Given the description of an element on the screen output the (x, y) to click on. 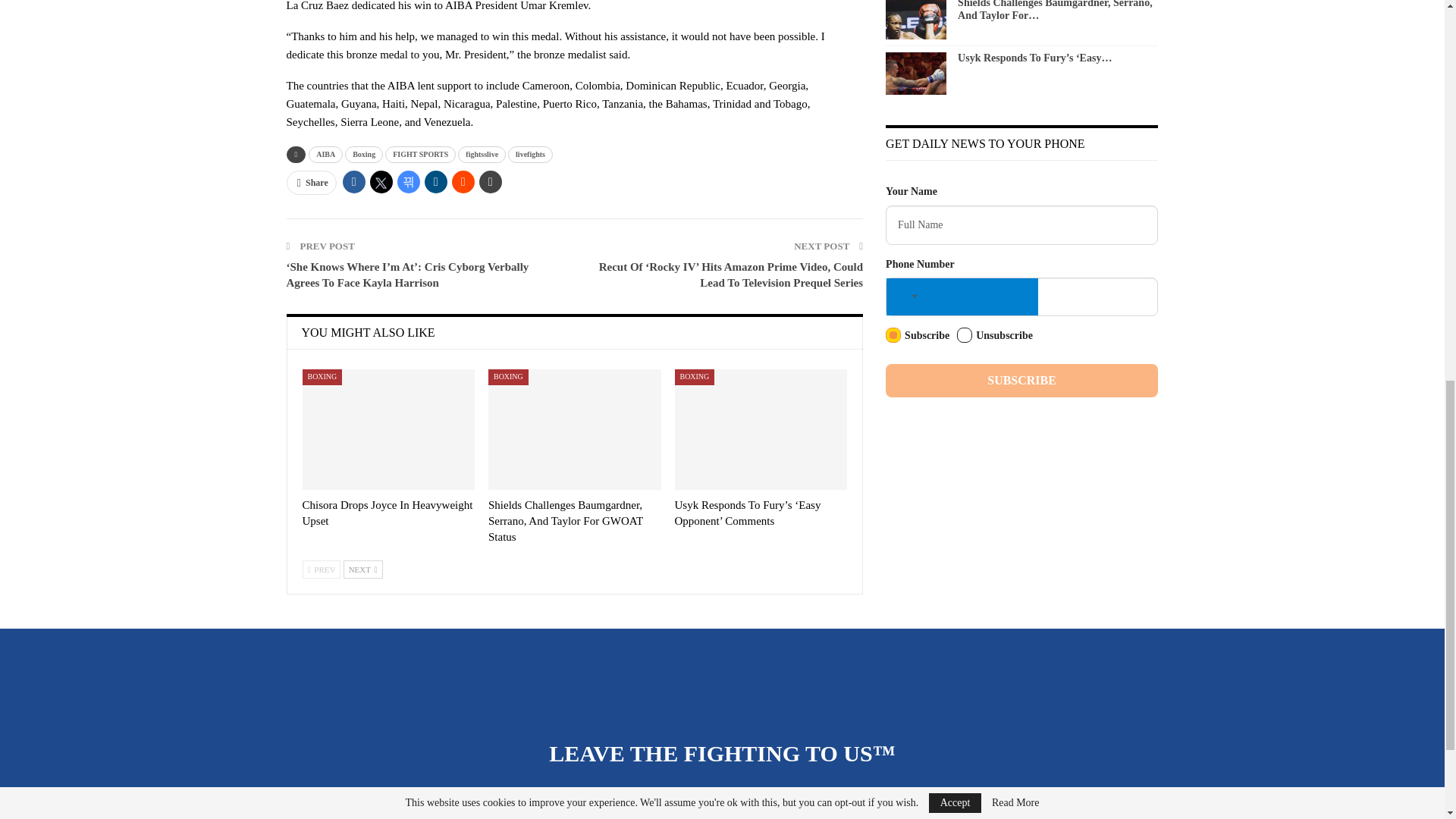
subscribe (893, 335)
unsubscribe (964, 335)
